Given the description of an element on the screen output the (x, y) to click on. 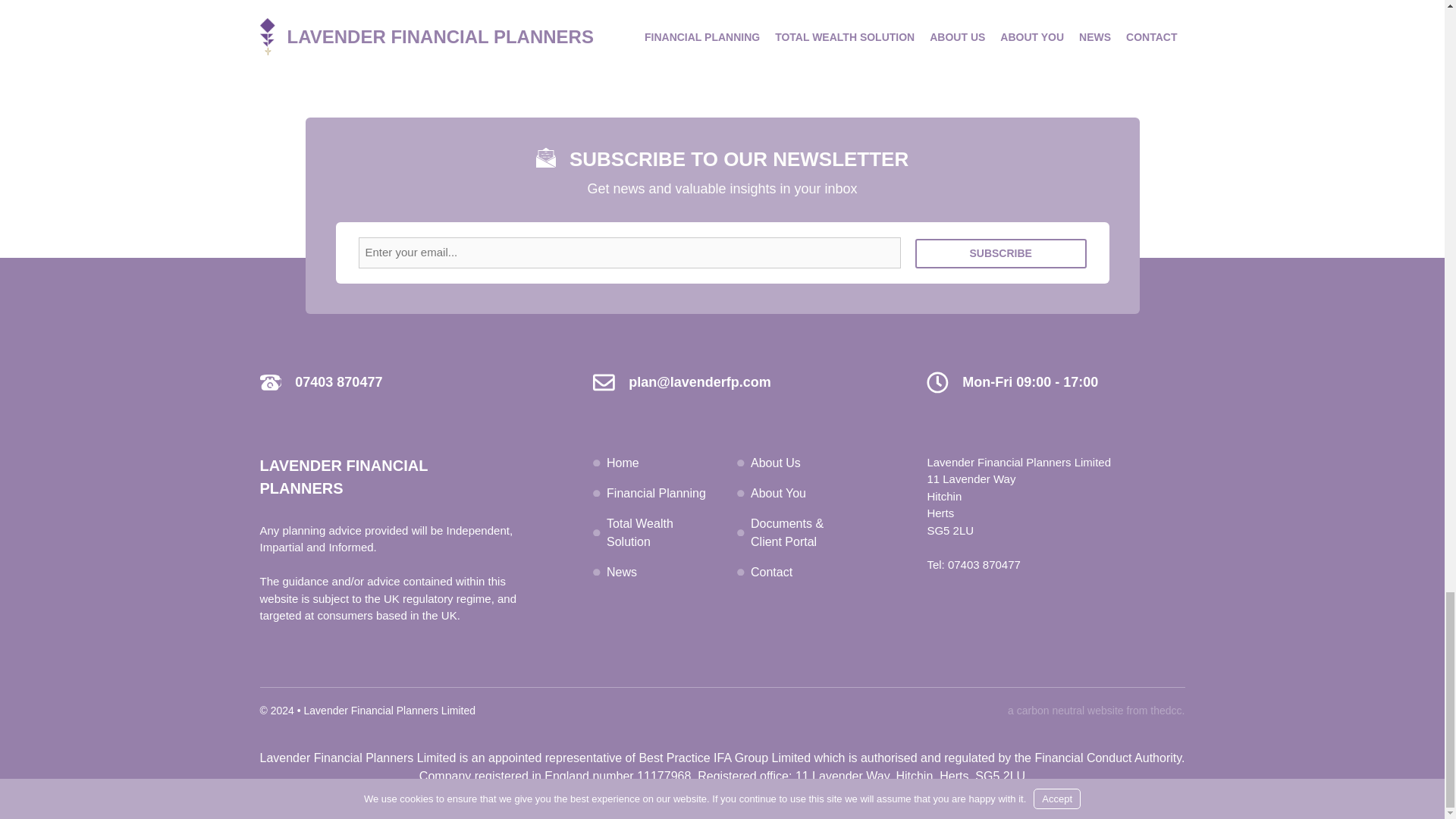
Home (623, 462)
Subscribe (1000, 253)
Total Wealth Solution (639, 531)
07403 870477 (983, 563)
READ MORE TESTIMONIALS (722, 39)
Contact (771, 571)
News (622, 571)
07403 870477 (338, 381)
Subscribe (1000, 253)
a carbon neutral website from thedcc. (1096, 710)
